Given the description of an element on the screen output the (x, y) to click on. 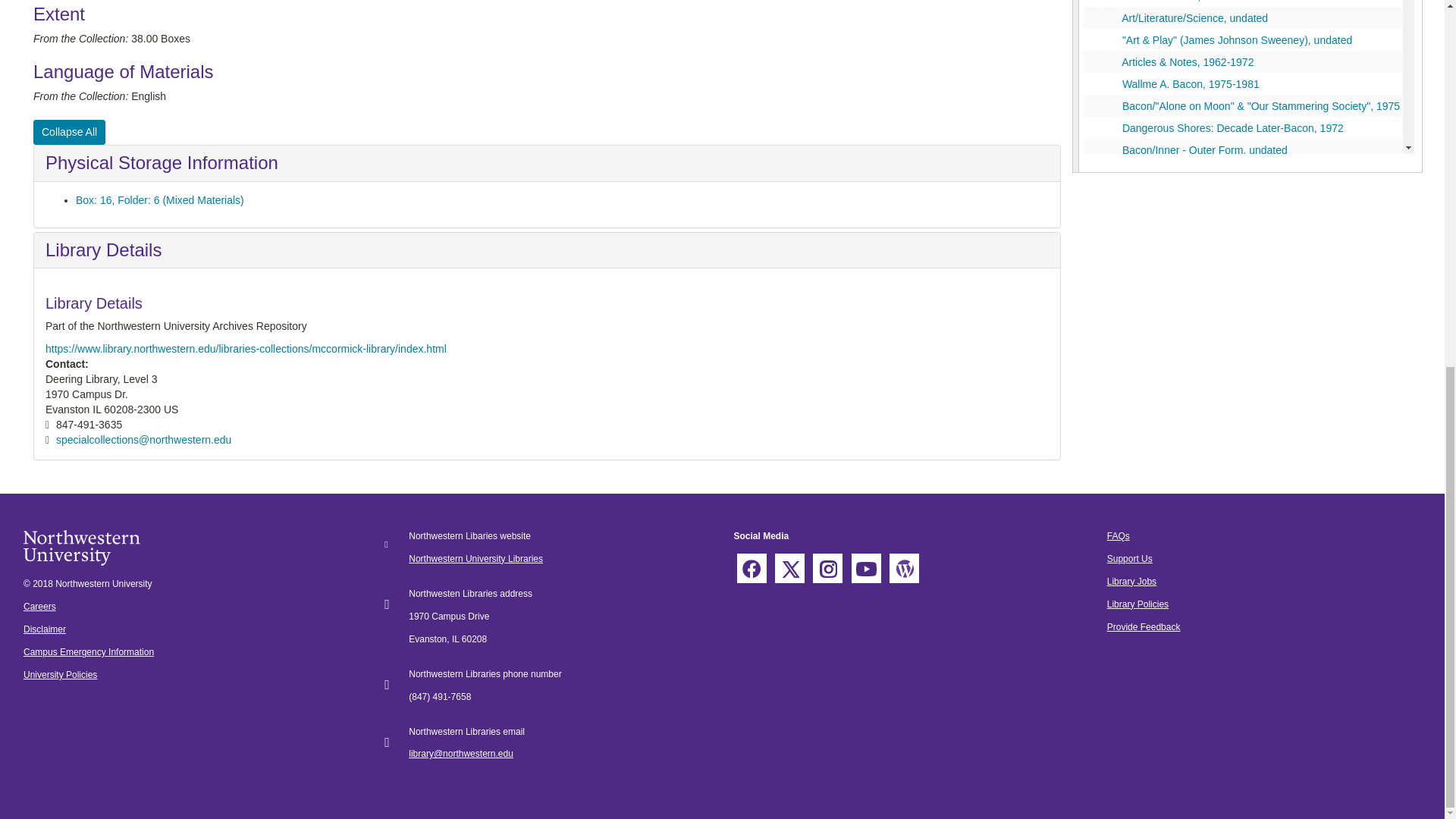
Send email (143, 439)
Physical Storage Information (161, 162)
Aristotle Poetics (1242, 3)
Collapse All (68, 131)
Library Details (103, 249)
